Given the description of an element on the screen output the (x, y) to click on. 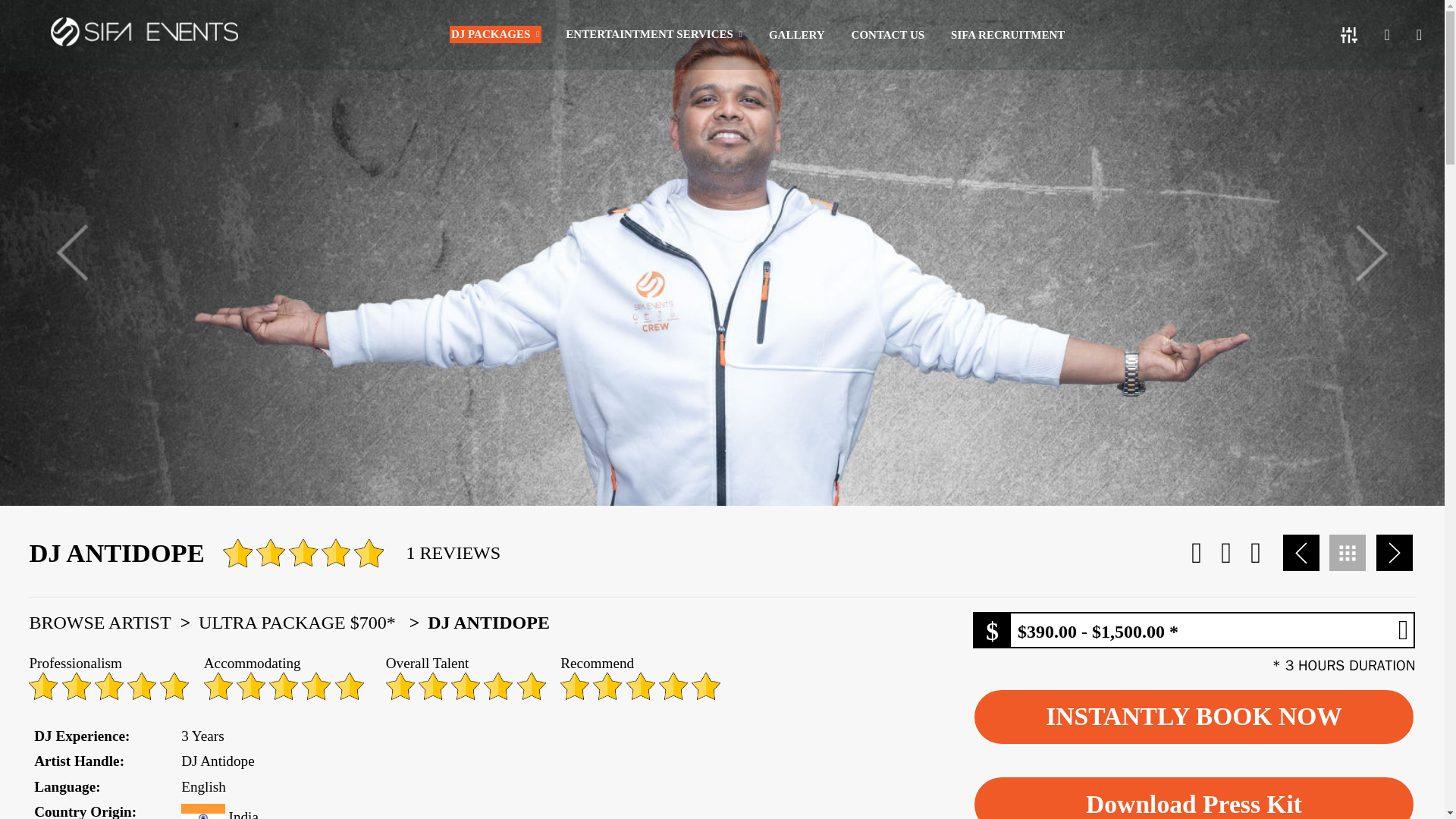
Download DJ ANTIDOPE  Press Kit (1193, 797)
BROWSE ARTIST (112, 622)
GALLERY (797, 35)
Download Press Kit (1193, 797)
ENTERTAINTMENT SERVICES (654, 34)
SIFA RECRUITMENT (1008, 35)
BROWSE ARTIST (112, 622)
CONTACT US (888, 35)
1 REVIEWS (453, 552)
DJ PACKAGES (495, 34)
